Given the description of an element on the screen output the (x, y) to click on. 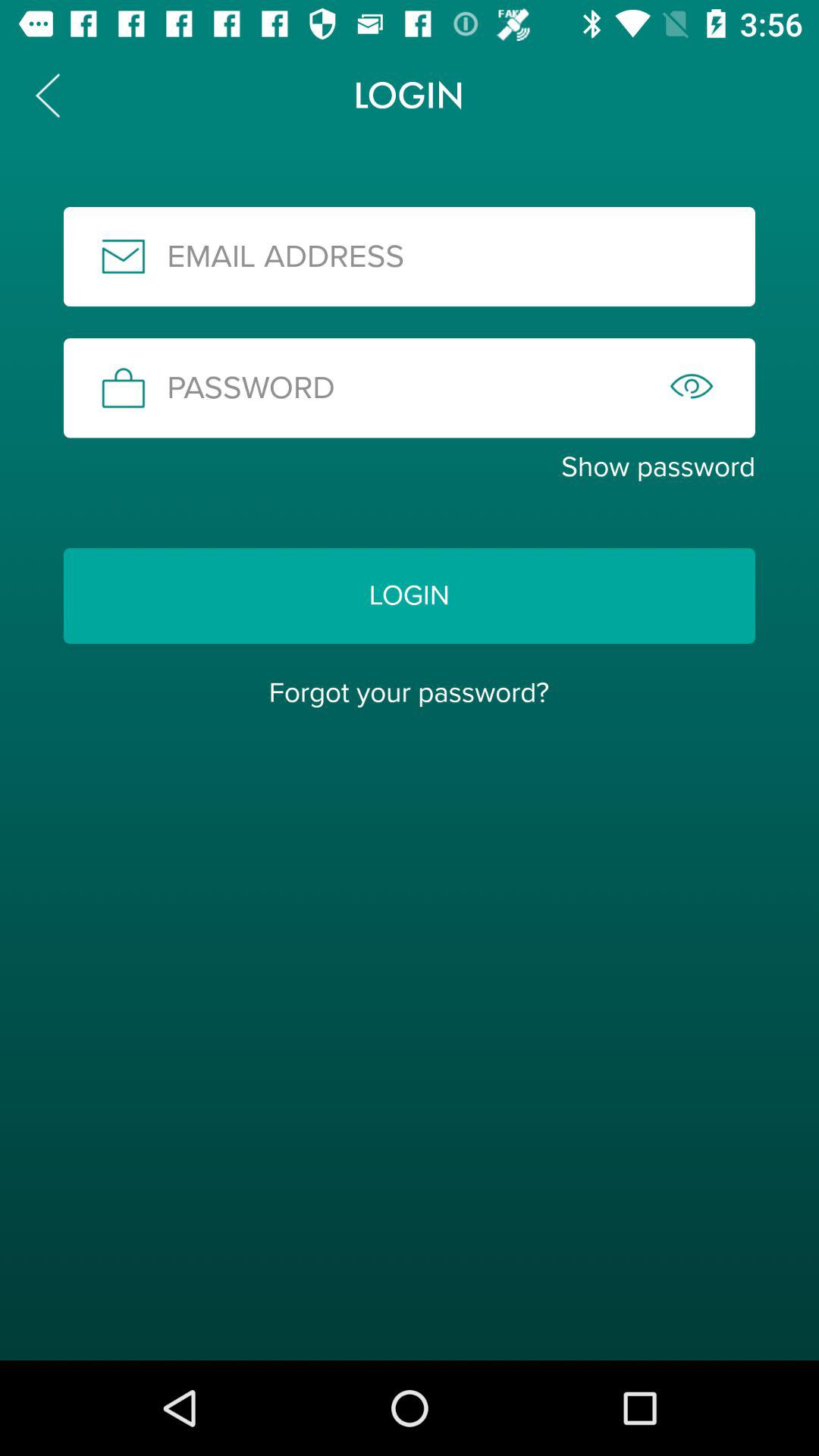
choose item at the top left corner (47, 95)
